Given the description of an element on the screen output the (x, y) to click on. 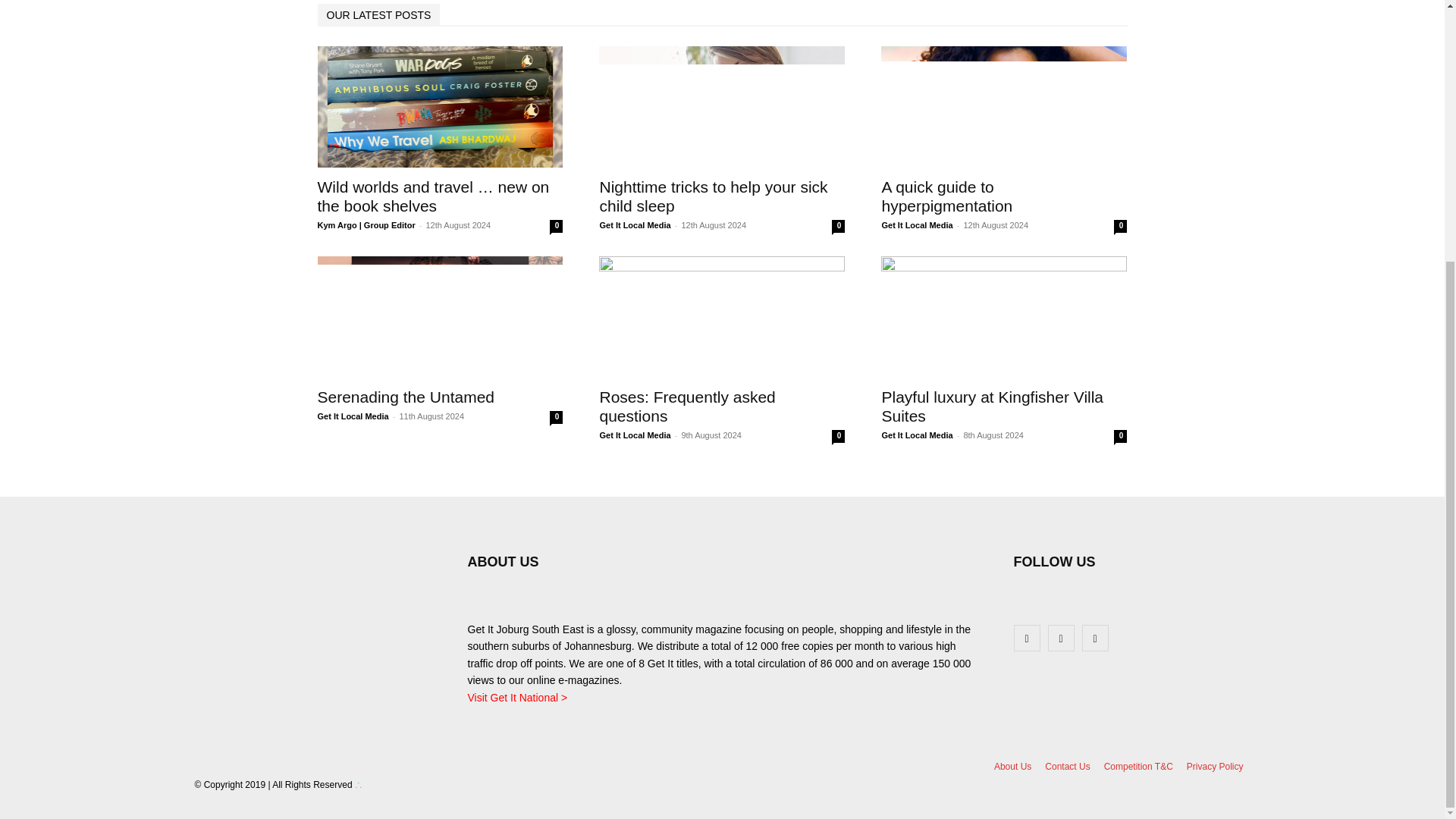
Roses: Frequently asked questions (721, 316)
A quick guide to hyperpigmentation (945, 196)
Serenading the Untamed (439, 316)
A quick guide to hyperpigmentation (1003, 106)
Serenading the Untamed (406, 396)
